Given the description of an element on the screen output the (x, y) to click on. 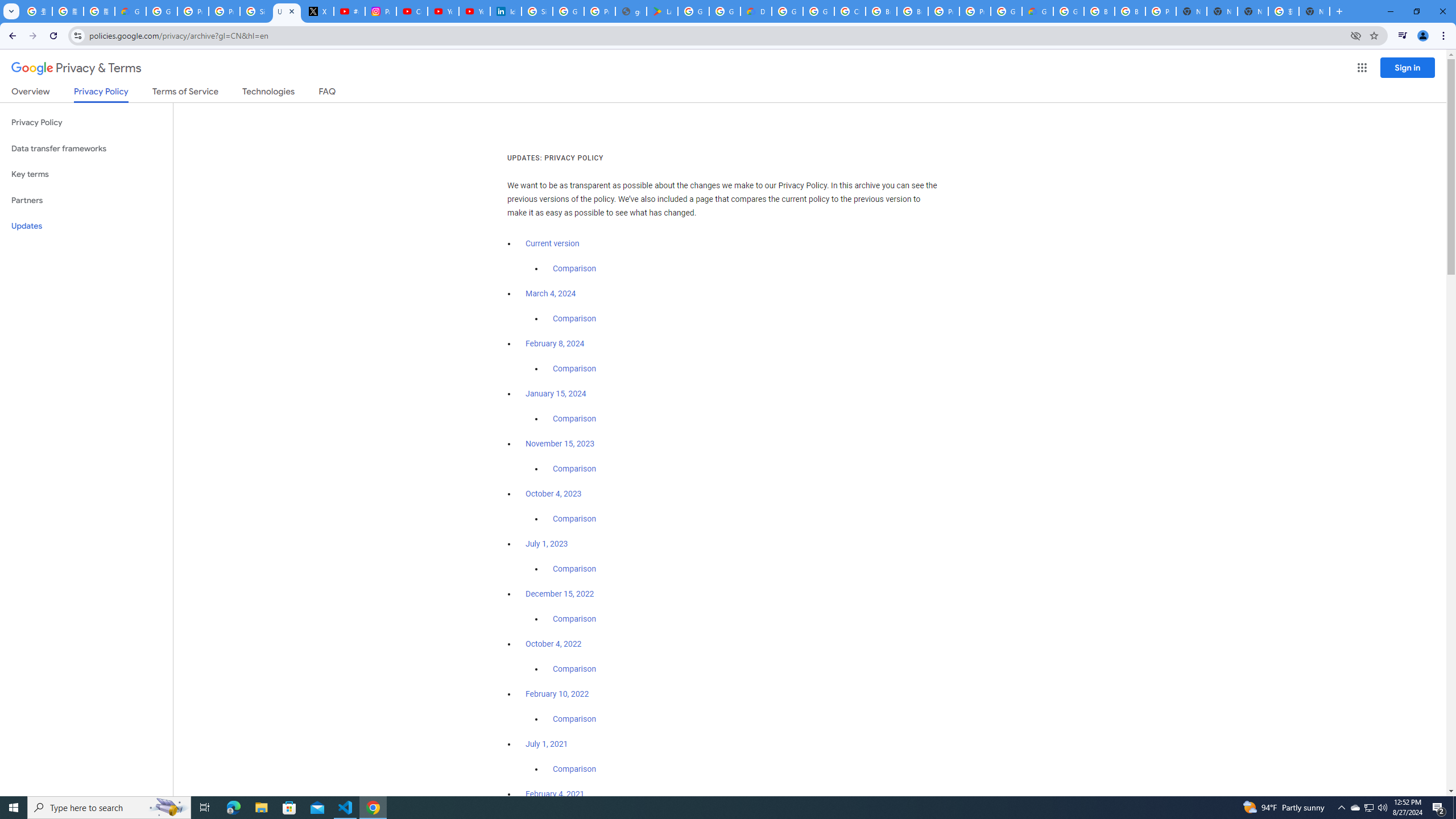
Sign in - Google Accounts (255, 11)
Google Workspace - Specific Terms (724, 11)
January 15, 2024 (555, 394)
February 8, 2024 (555, 343)
March 4, 2024 (550, 293)
July 1, 2021 (546, 743)
